Given the description of an element on the screen output the (x, y) to click on. 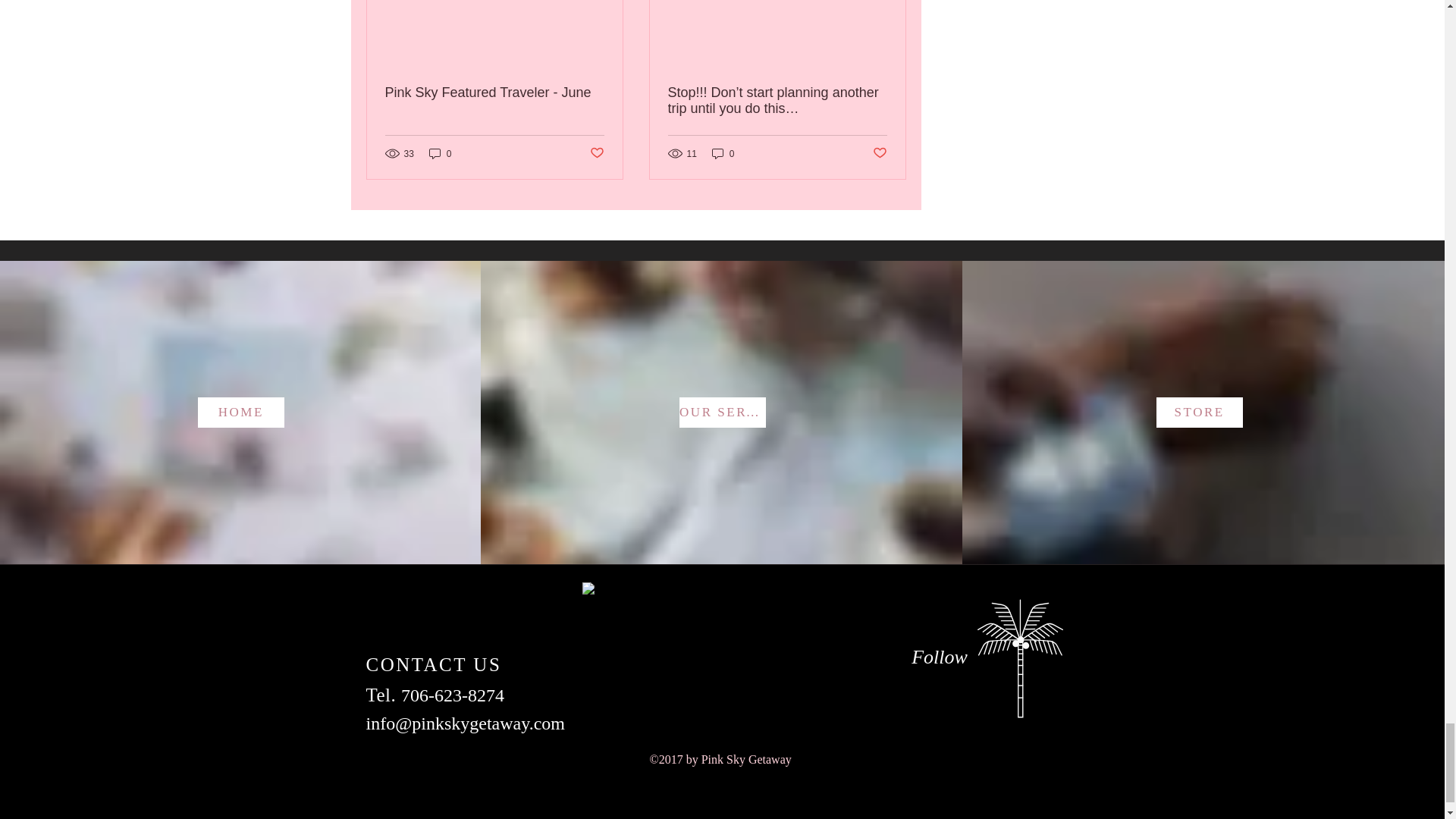
Pink Sky Featured Traveler - June (494, 92)
Post not marked as liked (596, 153)
0 (440, 153)
0 (723, 153)
STORE (1199, 412)
Post not marked as liked (879, 153)
OUR SERVICES (722, 412)
CONTACT US (432, 664)
HOME (240, 412)
